Given the description of an element on the screen output the (x, y) to click on. 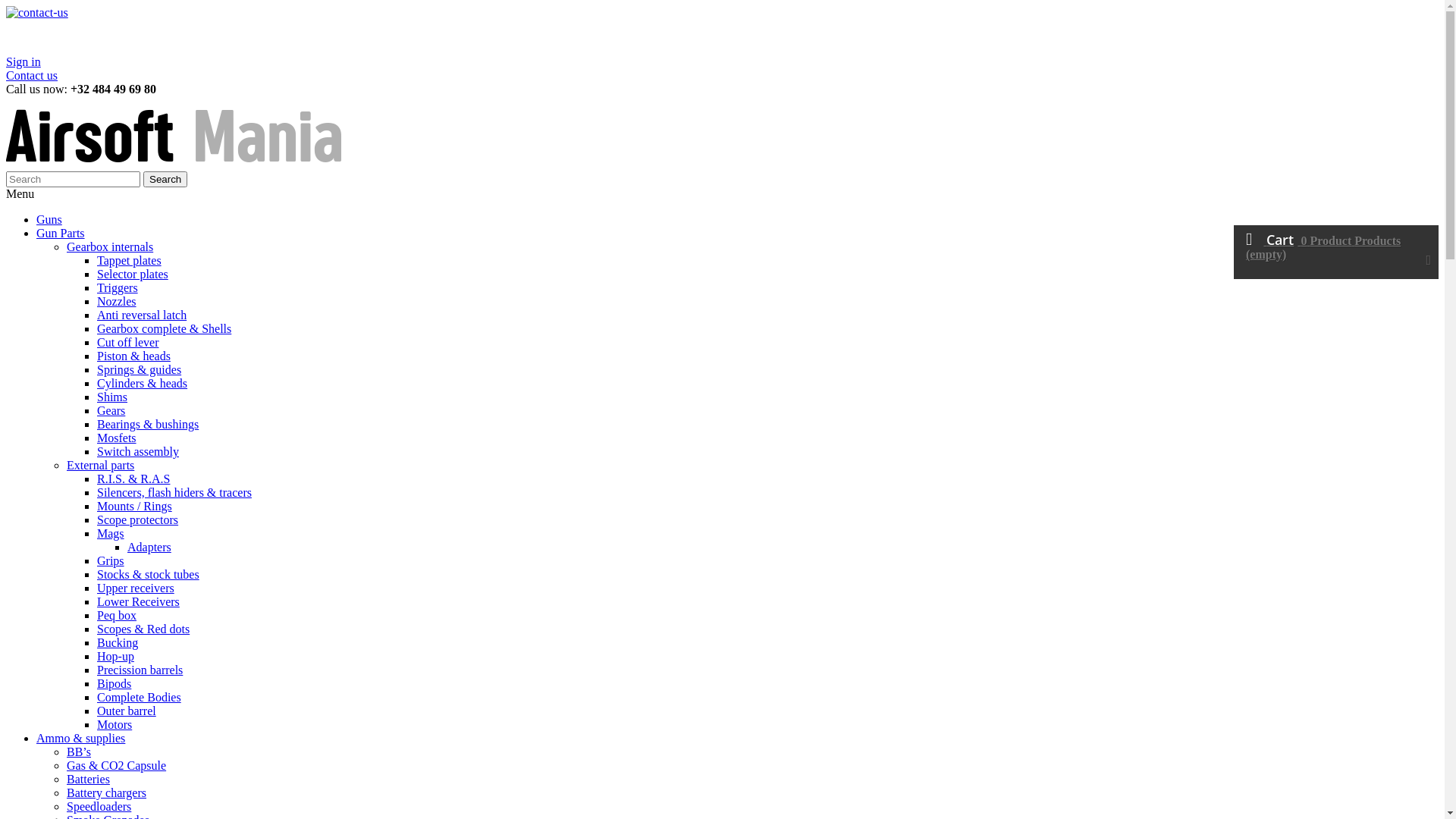
Airsoft-Mania - Steven Verscheure Element type: hover (177, 163)
Scope protectors Element type: text (137, 519)
Cart 0 Product Products (empty) Element type: text (1335, 252)
Shims Element type: text (112, 396)
Mosfets Element type: text (116, 437)
Gearbox complete & Shells Element type: text (164, 328)
Bearings & bushings Element type: text (147, 423)
Contact us Element type: text (31, 75)
Motors Element type: text (114, 724)
Bucking Element type: text (117, 642)
Guns Element type: text (49, 219)
Sign in Element type: text (23, 61)
Stocks & stock tubes Element type: text (148, 573)
Springs & guides Element type: text (139, 369)
Precission barrels Element type: text (139, 669)
Selector plates Element type: text (132, 273)
Batteries Element type: text (87, 778)
Speedloaders Element type: text (98, 806)
Lower Receivers Element type: text (138, 601)
Mounts / Rings Element type: text (134, 505)
Outer barrel Element type: text (126, 710)
Anti reversal latch Element type: text (141, 314)
Bipods Element type: text (114, 683)
Cut off lever Element type: text (127, 341)
Nozzles Element type: text (116, 300)
Scopes & Red dots Element type: text (143, 628)
Mags Element type: text (110, 533)
Gearbox internals Element type: text (109, 246)
contact-us Element type: hover (449, 30)
Gears Element type: text (111, 410)
R.I.S. & R.A.S Element type: text (133, 478)
Peq box Element type: text (116, 614)
External parts Element type: text (100, 464)
Battery chargers Element type: text (106, 792)
Triggers Element type: text (117, 287)
Complete Bodies Element type: text (139, 696)
Silencers, flash hiders & tracers Element type: text (174, 492)
Gun Parts Element type: text (60, 232)
Search Element type: text (165, 179)
Ammo & supplies Element type: text (80, 737)
Hop-up Element type: text (115, 655)
Piston & heads Element type: text (133, 355)
Switch assembly Element type: text (137, 451)
Cylinders & heads Element type: text (142, 382)
Grips Element type: text (110, 560)
Tappet plates Element type: text (129, 260)
Adapters Element type: text (149, 546)
Gas & CO2 Capsule Element type: text (116, 765)
Upper receivers Element type: text (135, 587)
